Given the description of an element on the screen output the (x, y) to click on. 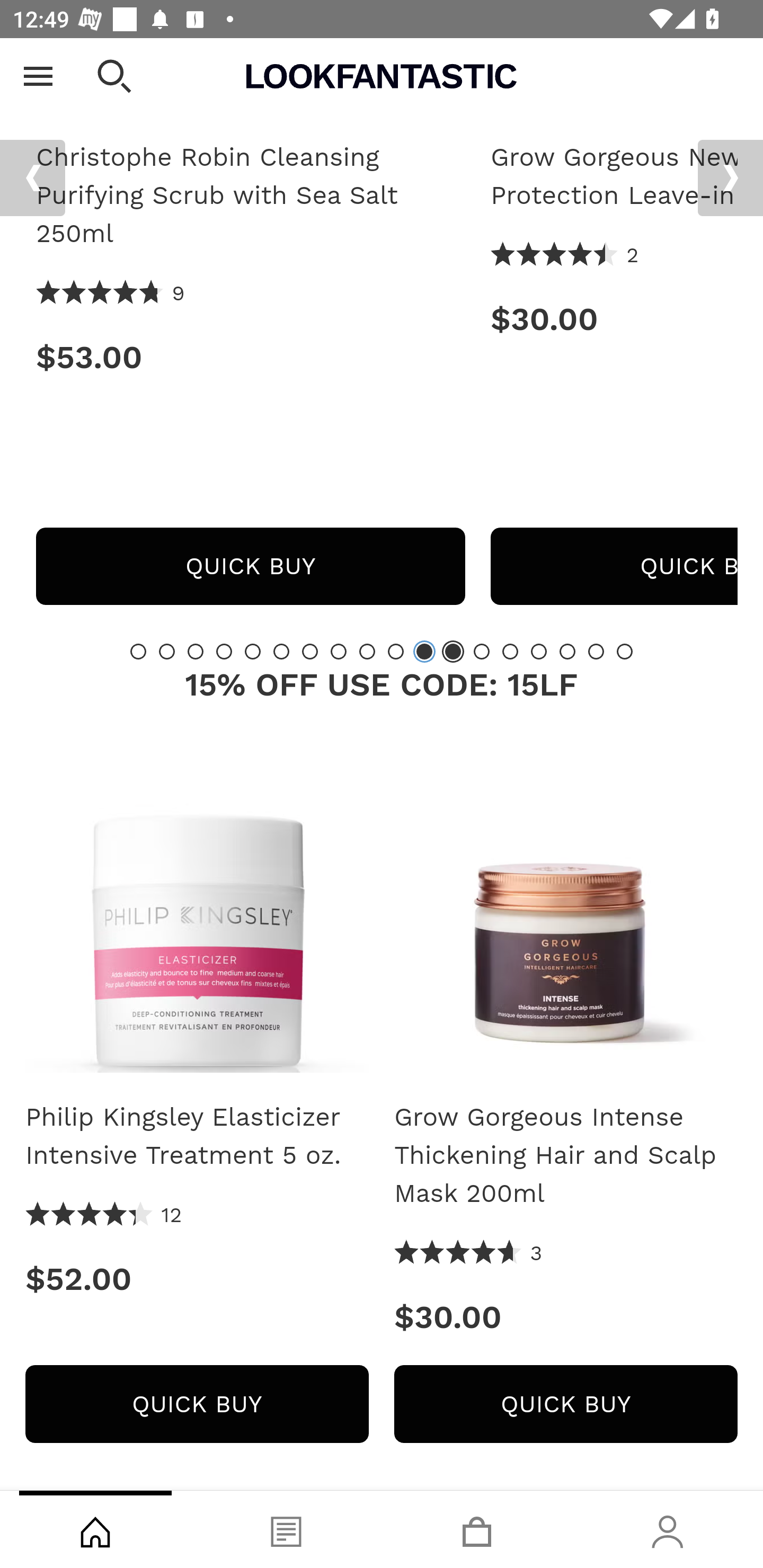
Previous (32, 178)
Next (730, 178)
4.5 Stars 2 Reviews (564, 255)
4.78 Stars 9 Reviews (110, 294)
Price: $30.00 (613, 320)
Price: $53.00 (250, 358)
Slide 1 (138, 651)
Slide 2 (166, 651)
Slide 3 (195, 651)
Slide 4 (223, 651)
Slide 5 (252, 651)
Slide 6 (281, 651)
Slide 7 (310, 651)
Slide 8 (338, 651)
Slide 9 (367, 651)
Slide 10 (395, 651)
Showing Slide 11 (Current Item) (424, 651)
Showing Slide 12 (Current Item) (452, 651)
Slide 13 (481, 651)
Slide 14 (510, 651)
Slide 15 (539, 651)
Slide 16 (567, 651)
Slide 17 (596, 651)
Slide 18 (624, 651)
4.33 Stars 12 Reviews (104, 1215)
4.67 Stars 3 Reviews (468, 1254)
Price: $52.00 (196, 1280)
Price: $30.00 (565, 1317)
Shop, tab, 1 of 4 (95, 1529)
Blog, tab, 2 of 4 (285, 1529)
Basket, tab, 3 of 4 (476, 1529)
Account, tab, 4 of 4 (667, 1529)
